Given the description of an element on the screen output the (x, y) to click on. 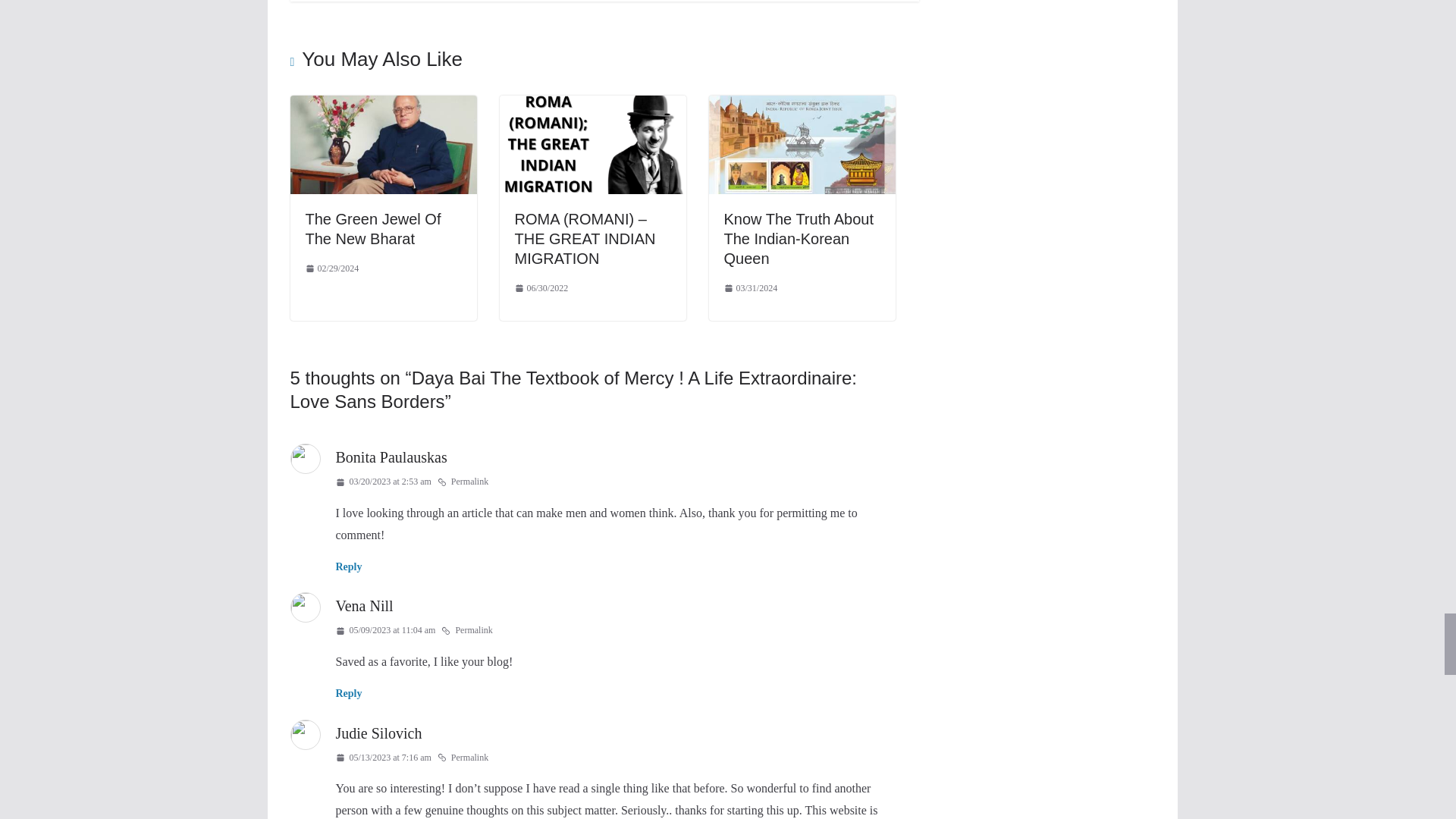
1:56 pm (331, 269)
The Green Jewel Of The New Bharat (372, 228)
The Green Jewel Of The New Bharat (382, 105)
